Given the description of an element on the screen output the (x, y) to click on. 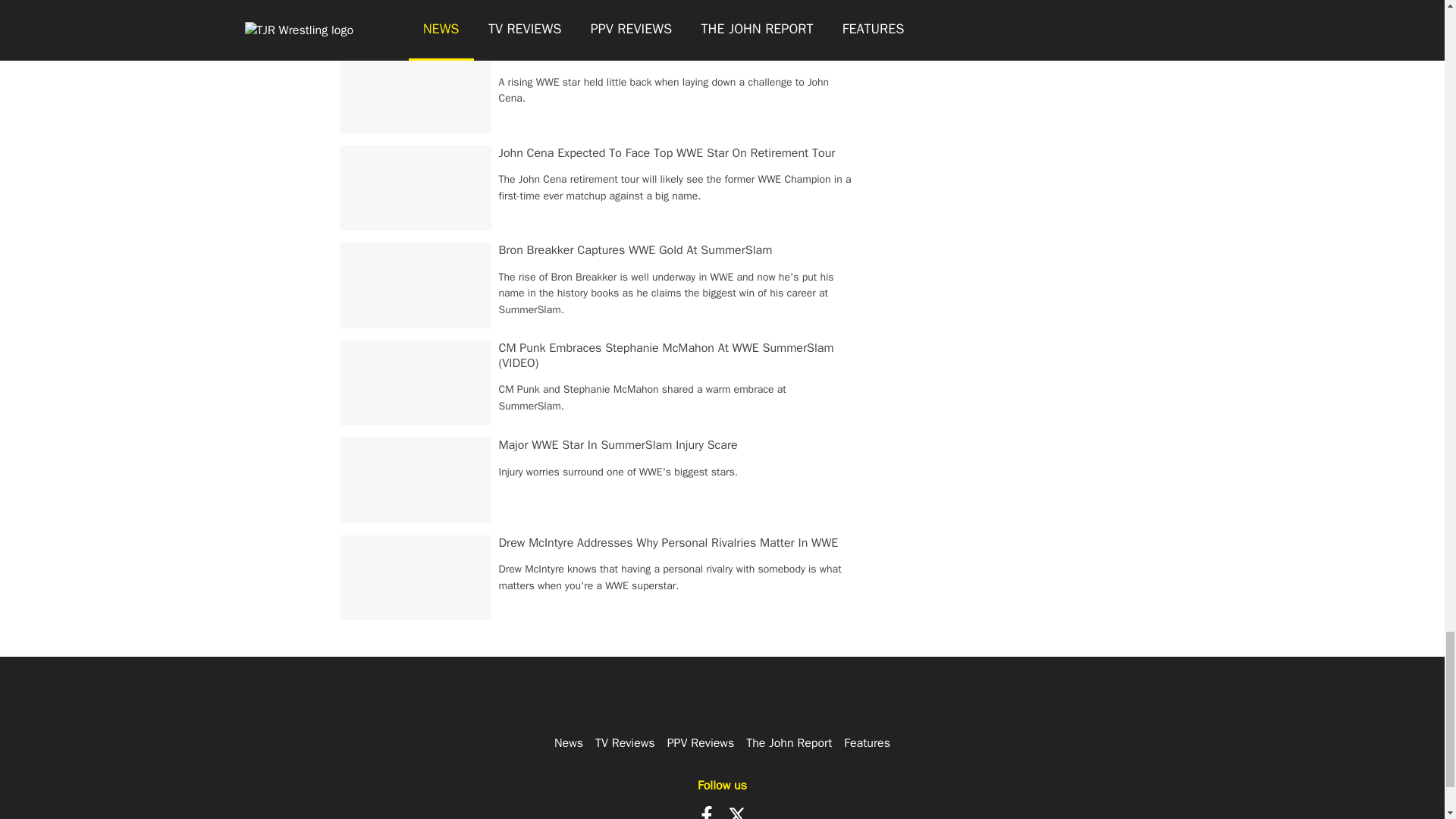
Bron Breakker Captures WWE Gold At SummerSlam (636, 249)
Facebook (706, 812)
John Cena Expected To Face Top WWE Star On Retirement Tour (667, 152)
X (736, 812)
